Given the description of an element on the screen output the (x, y) to click on. 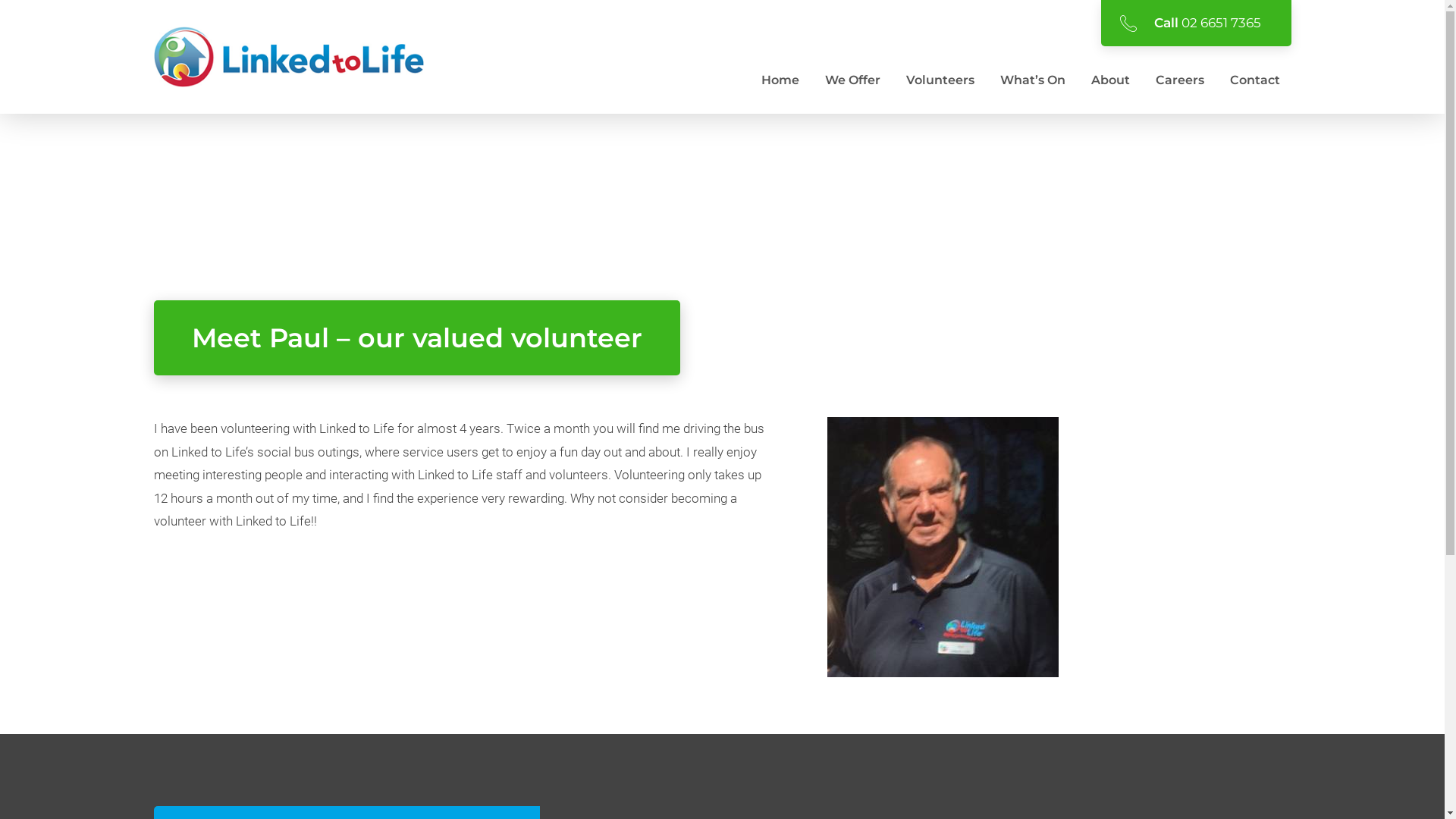
Contact Element type: text (1255, 79)
Call 02 6651 7365 Element type: text (1207, 22)
We Offer Element type: text (852, 79)
About Element type: text (1109, 79)
Volunteers Element type: text (939, 79)
Linked to Life Element type: hover (288, 56)
Careers Element type: text (1179, 79)
Home Element type: text (780, 79)
